Given the description of an element on the screen output the (x, y) to click on. 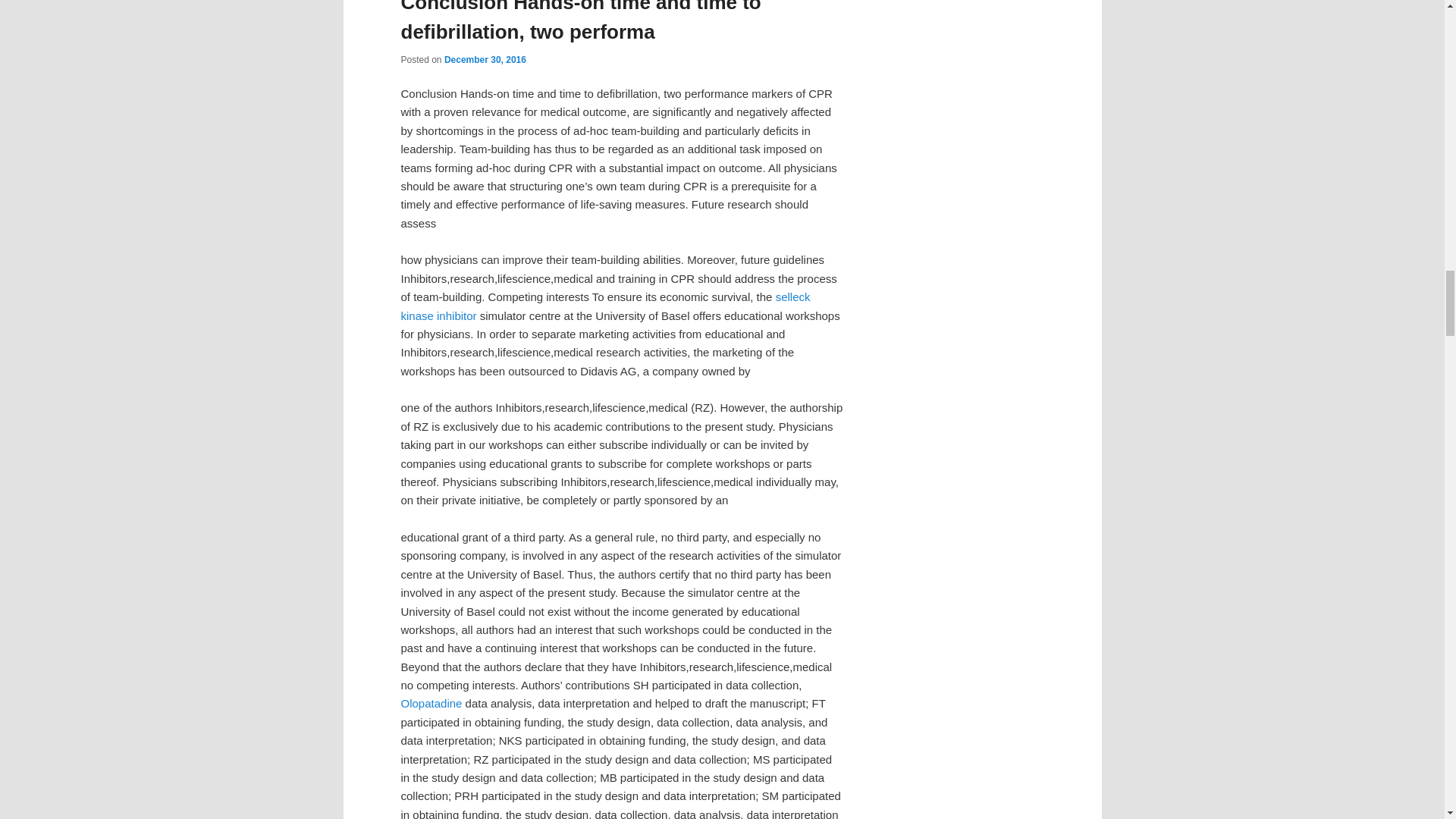
December 30, 2016 (484, 59)
Olopatadine (430, 703)
selleck kinase inhibitor (604, 305)
